Given the description of an element on the screen output the (x, y) to click on. 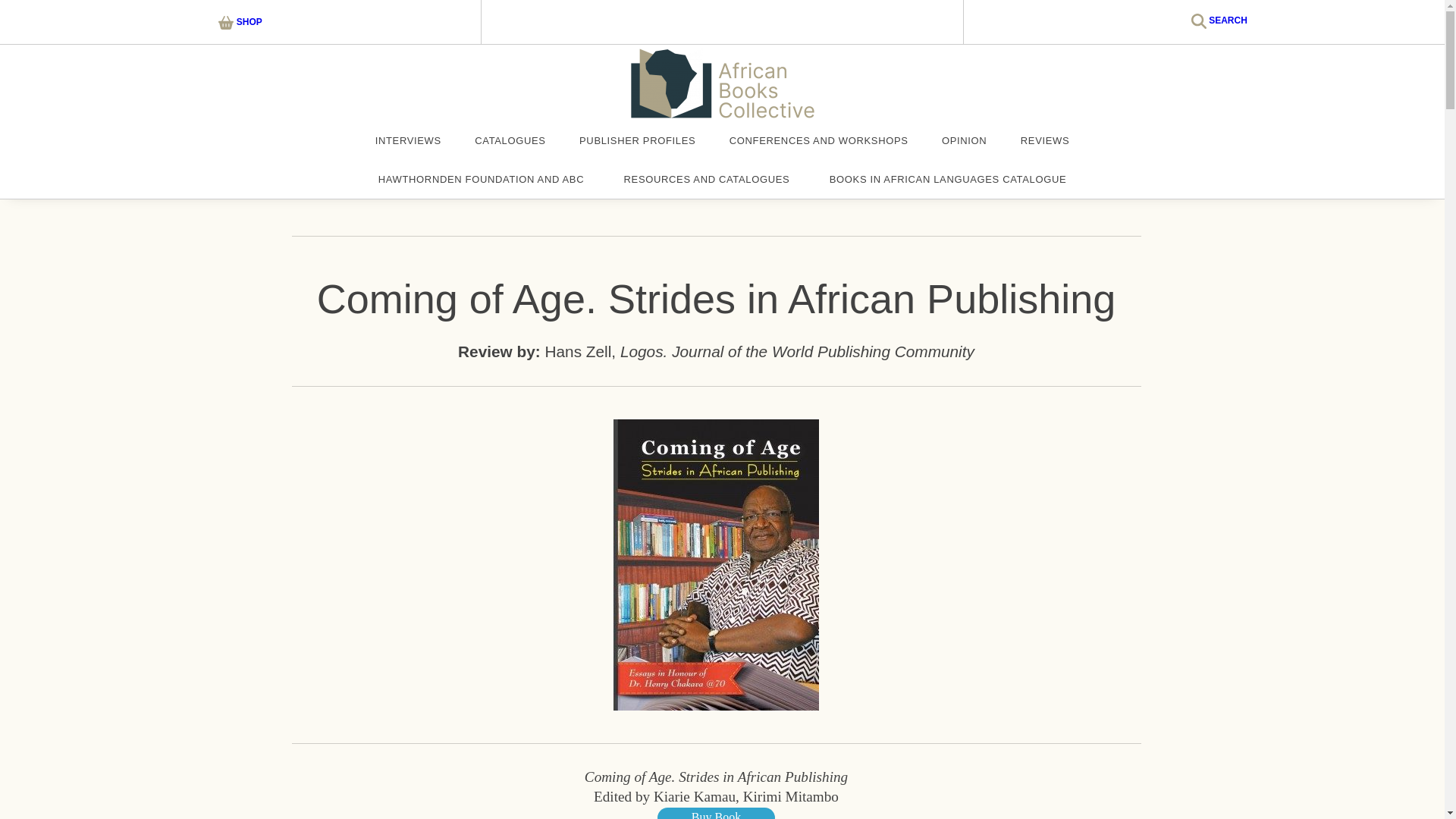
OPINION (964, 141)
BOOKS IN AFRICAN LANGUAGES CATALOGUE (947, 179)
CATALOGUES (510, 141)
Buy Book (716, 813)
HAWTHORNDEN FOUNDATION AND ABC (481, 179)
SHOP (240, 21)
REVIEWS (1045, 141)
CONFERENCES AND WORKSHOPS (818, 141)
INTERVIEWS (408, 141)
RESOURCES AND CATALOGUES (706, 179)
